Given the description of an element on the screen output the (x, y) to click on. 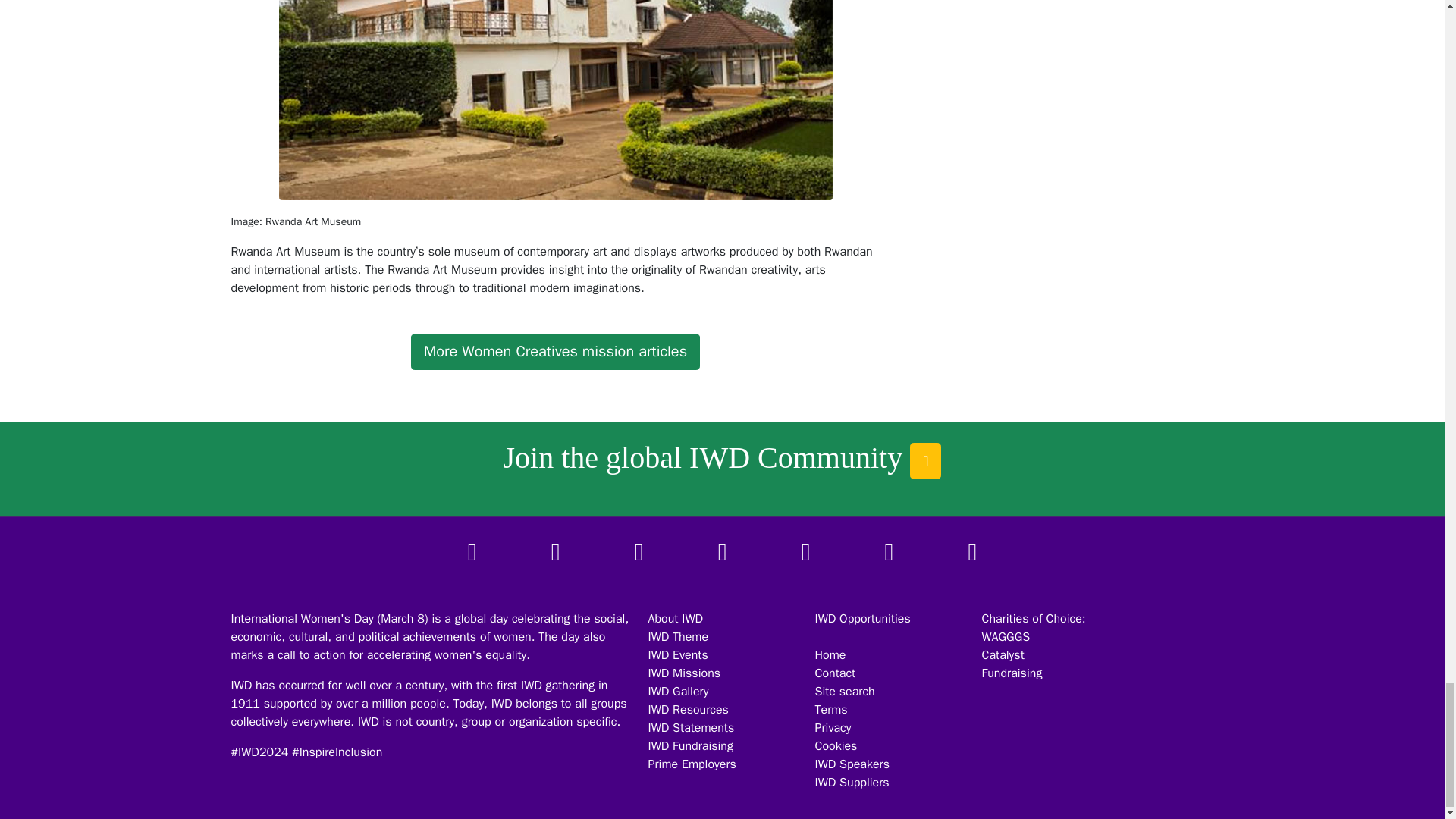
More Women Creatives mission articles (555, 351)
